Given the description of an element on the screen output the (x, y) to click on. 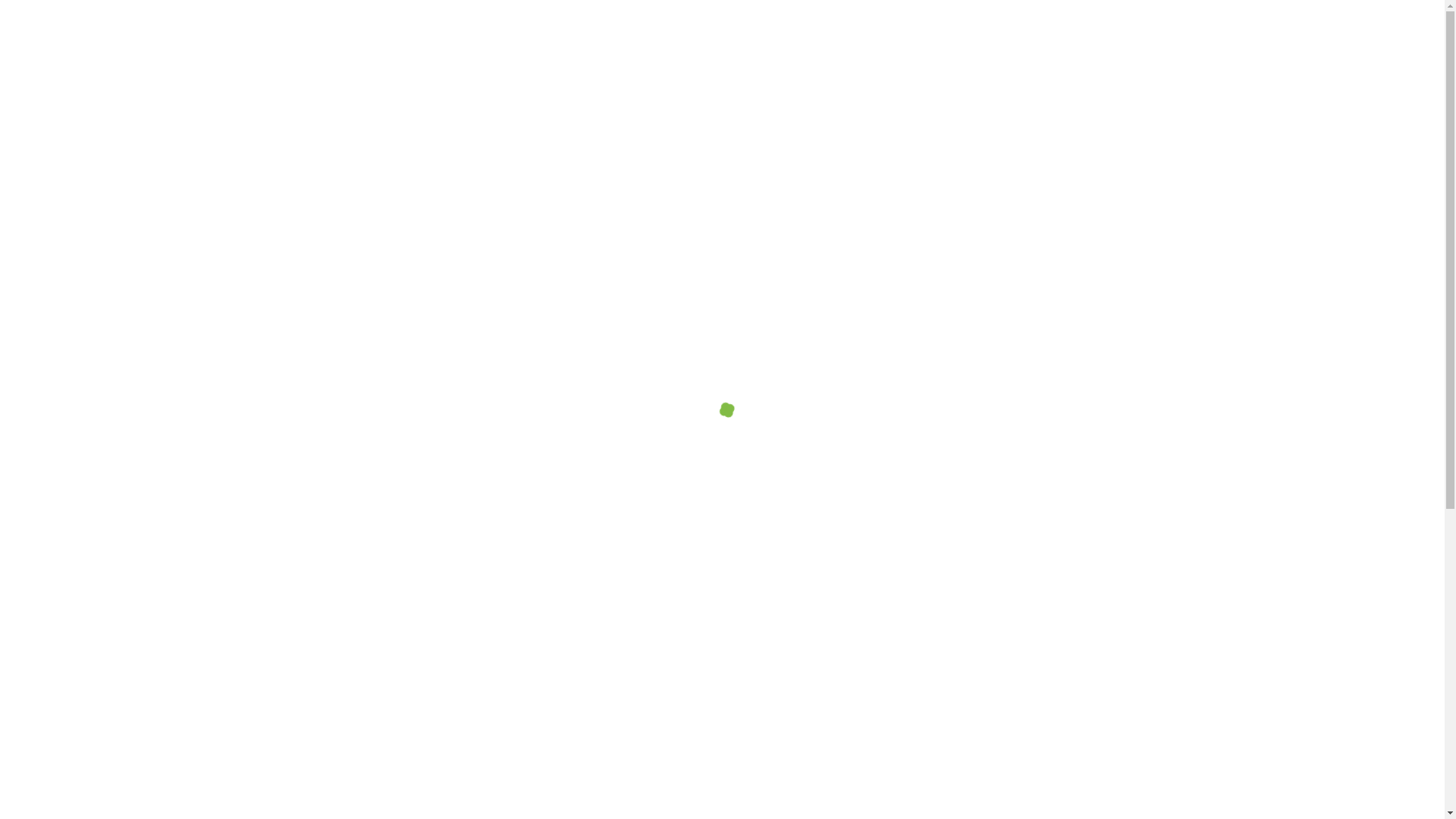
Occasions Element type: text (866, 52)
Envoyer Element type: text (662, 690)
conditions d'utilisation Element type: text (604, 638)
Contact Element type: text (1100, 52)
+32 67 44 45 78 Element type: text (1081, 492)
Home Element type: text (1197, 52)
